Given the description of an element on the screen output the (x, y) to click on. 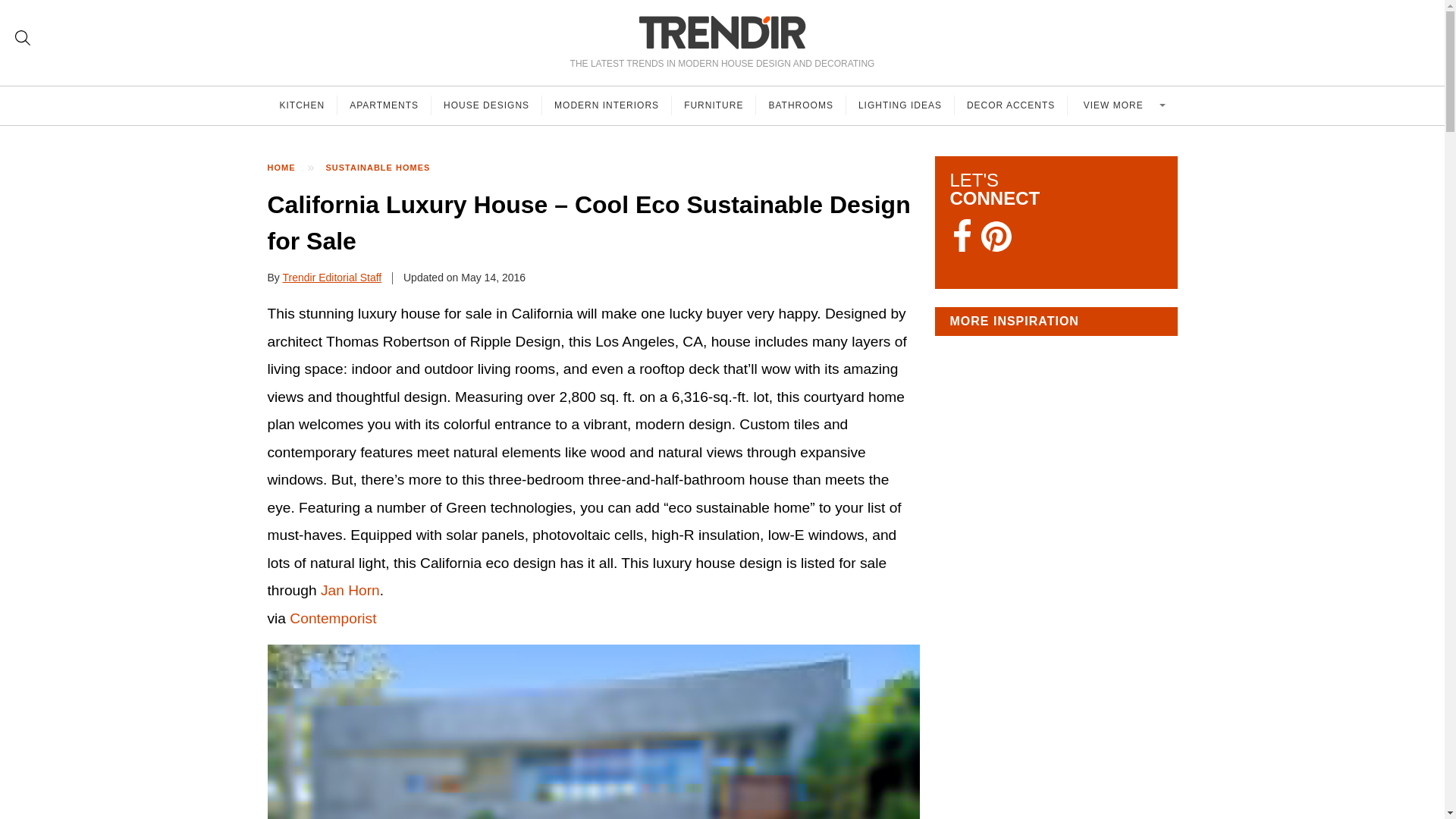
Trendir Pinterest (995, 237)
FURNITURE (713, 105)
TRENDIR (722, 32)
SUSTAINABLE HOMES (385, 167)
VIEW MORE (1122, 105)
LIGHTING IDEAS (900, 105)
Sustainable Homes (385, 167)
APARTMENTS (383, 105)
Home (288, 167)
BATHROOMS (800, 105)
